Given the description of an element on the screen output the (x, y) to click on. 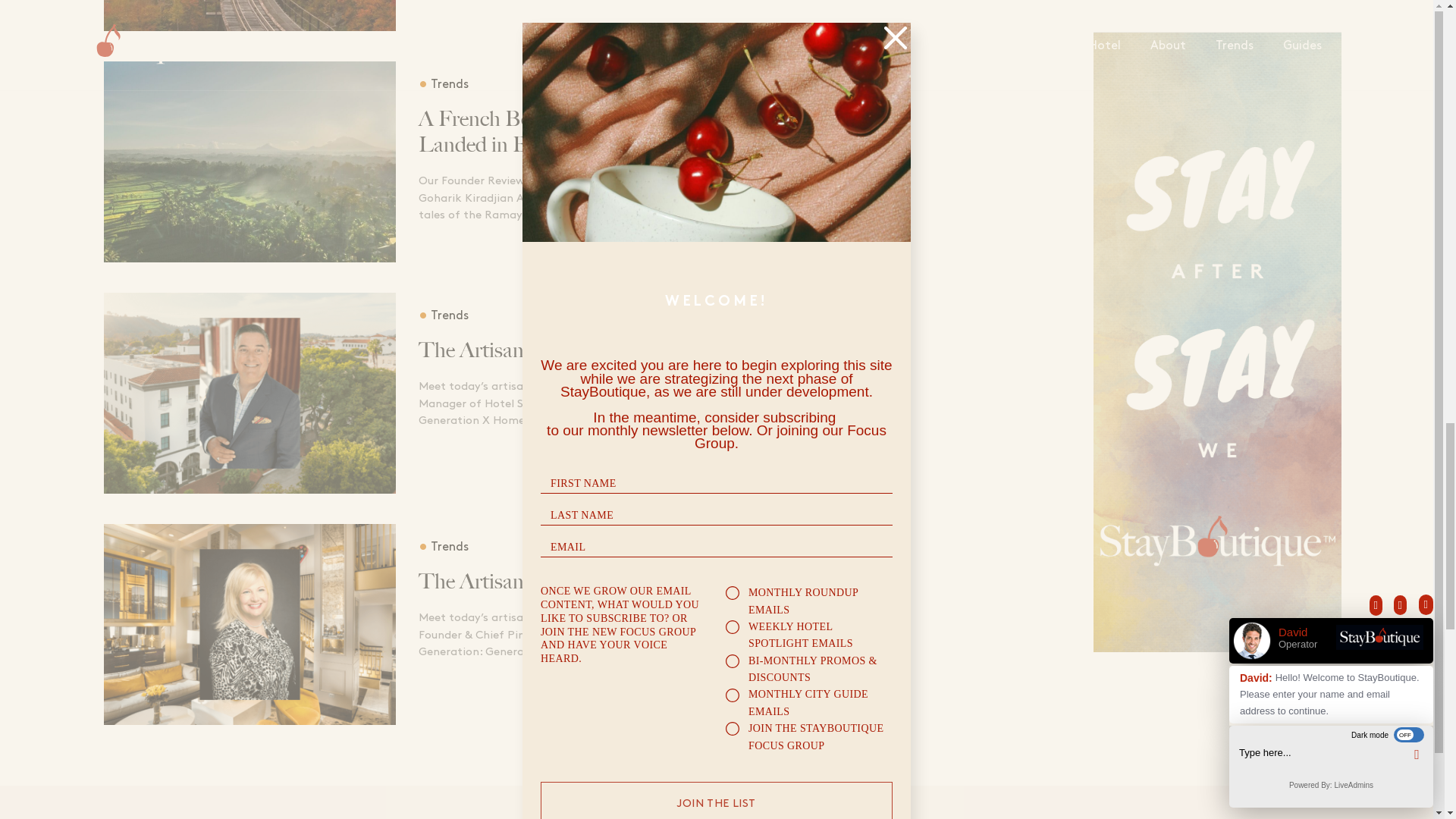
Trends (443, 84)
The Artisans: Chris Cline (570, 350)
Trends (443, 315)
A French Boutique Hotel Has Landed in Bali (570, 132)
